Given the description of an element on the screen output the (x, y) to click on. 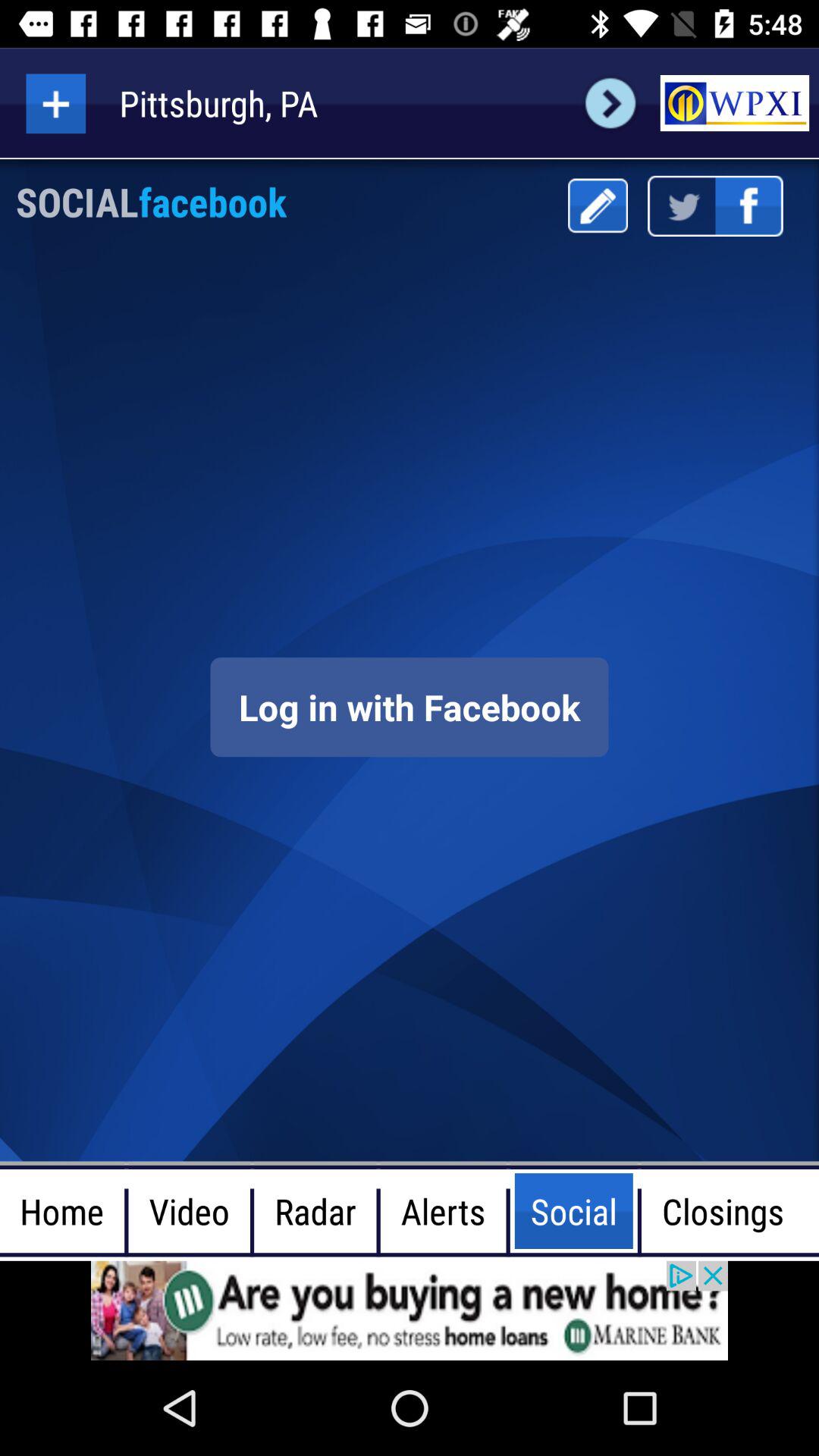
screen page (409, 707)
